Given the description of an element on the screen output the (x, y) to click on. 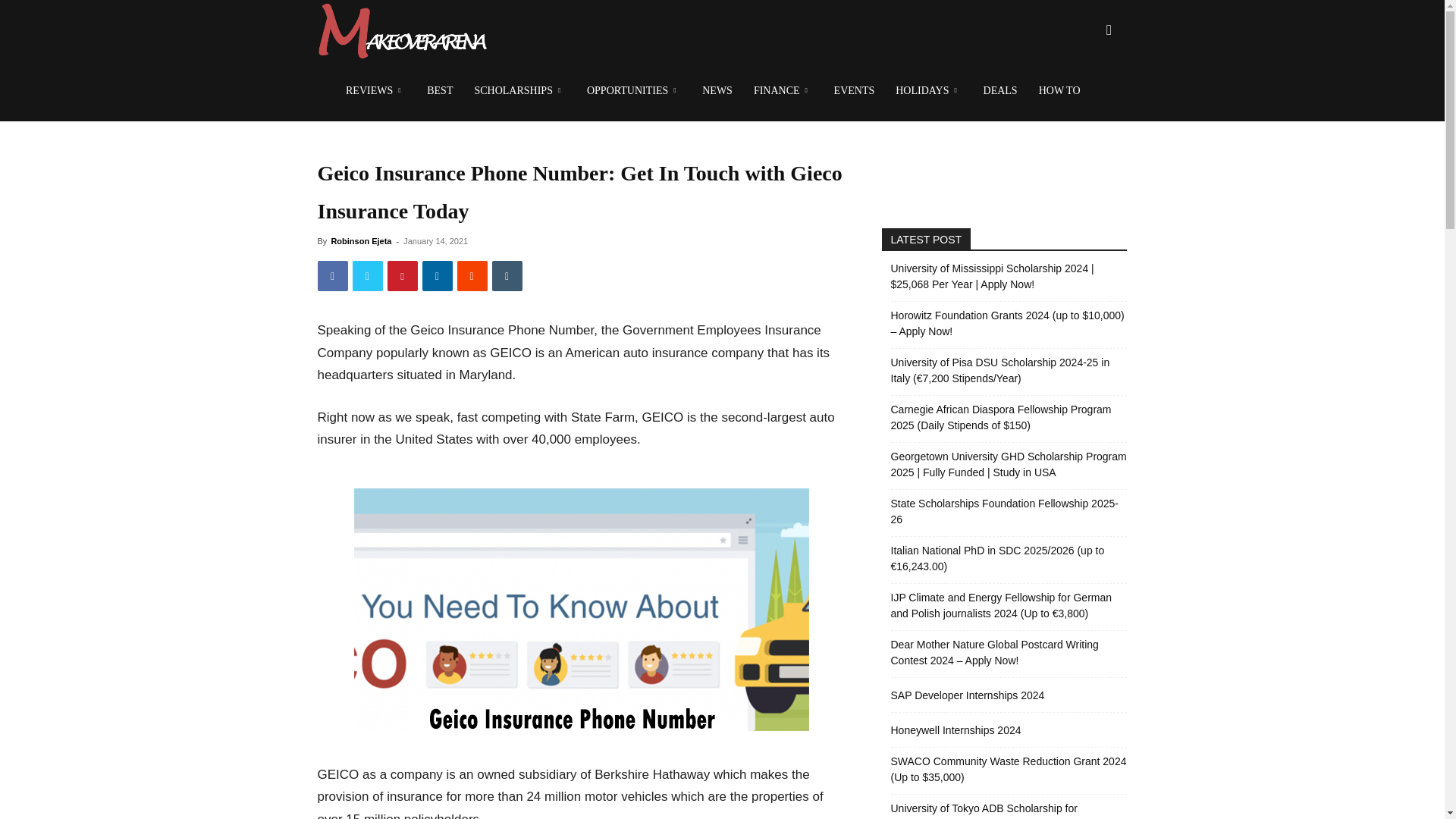
Twitter (366, 276)
Pinterest (401, 276)
Tumblr (506, 276)
ReddIt (471, 276)
Facebook (332, 276)
Linkedin (436, 276)
